Given the description of an element on the screen output the (x, y) to click on. 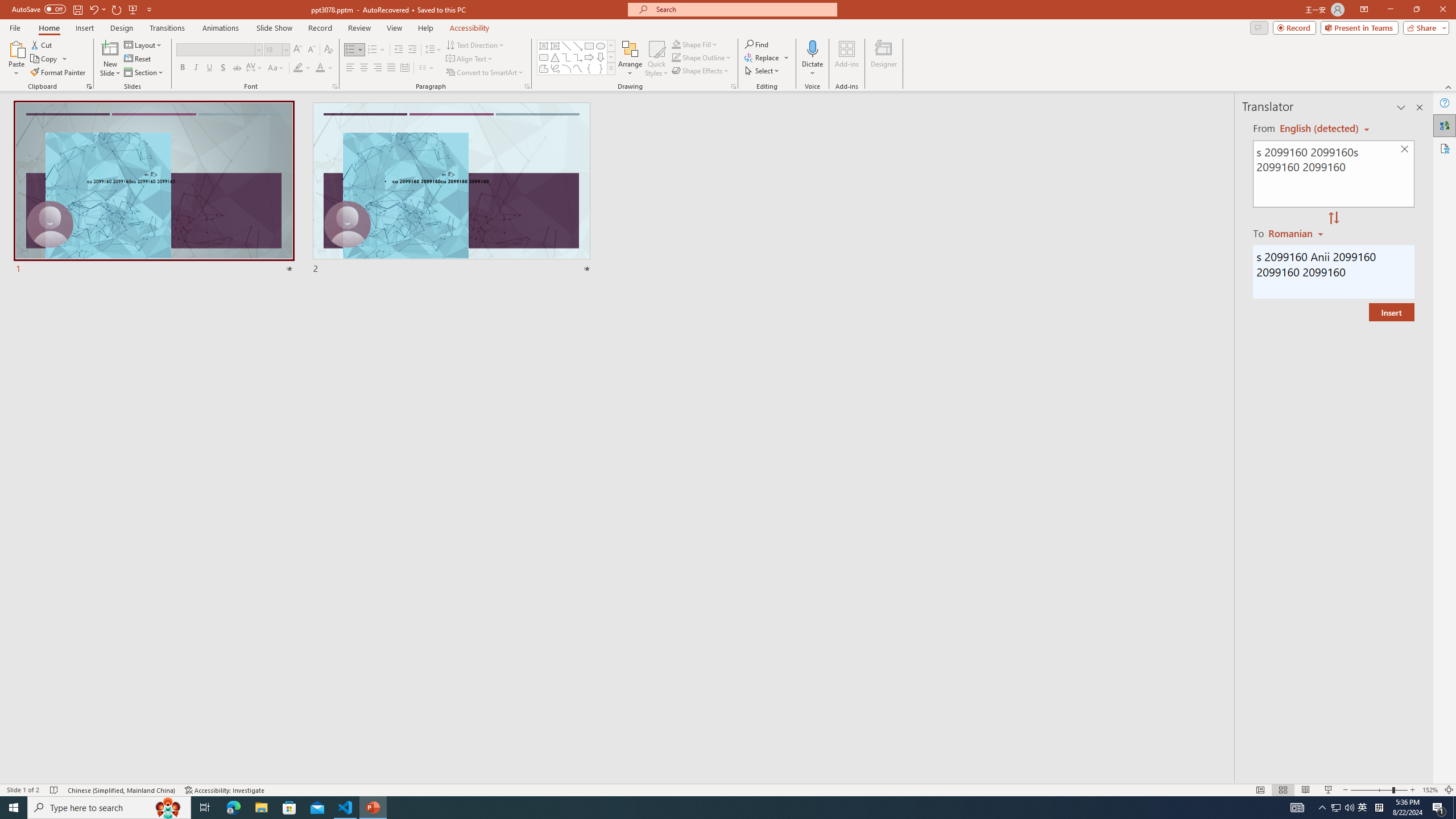
Shape Fill Dark Green, Accent 2 (675, 44)
